Given the description of an element on the screen output the (x, y) to click on. 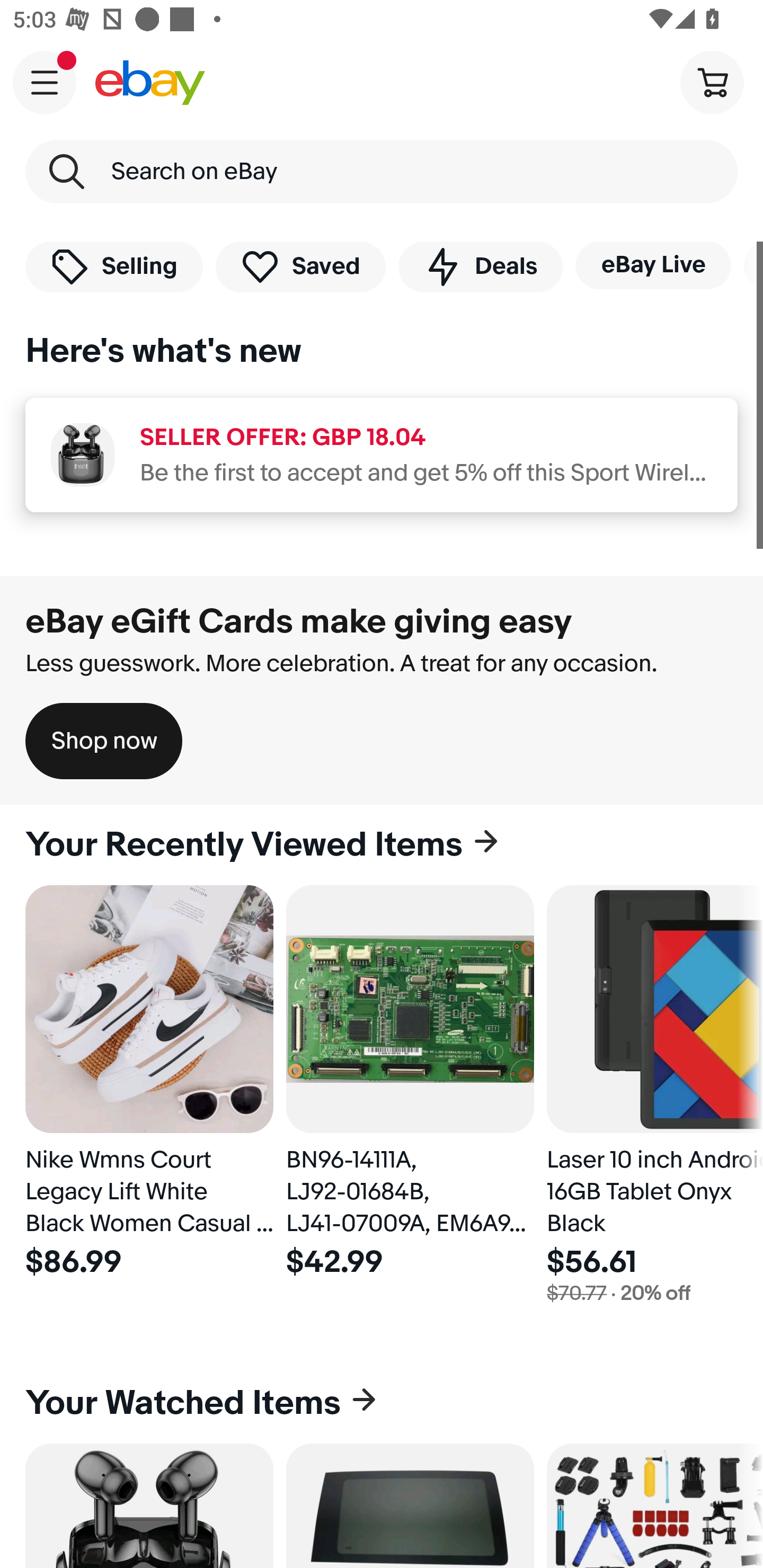
Main navigation, notification is pending, open (44, 82)
Cart button shopping cart (711, 81)
Search on eBay Search Keyword Search on eBay (381, 171)
Selling (113, 266)
Saved (300, 266)
Deals (480, 266)
eBay Live (652, 264)
eBay eGift Cards make giving easy (298, 621)
Shop now (103, 740)
Your Recently Viewed Items   (381, 844)
Your Watched Items   (381, 1403)
